Given the description of an element on the screen output the (x, y) to click on. 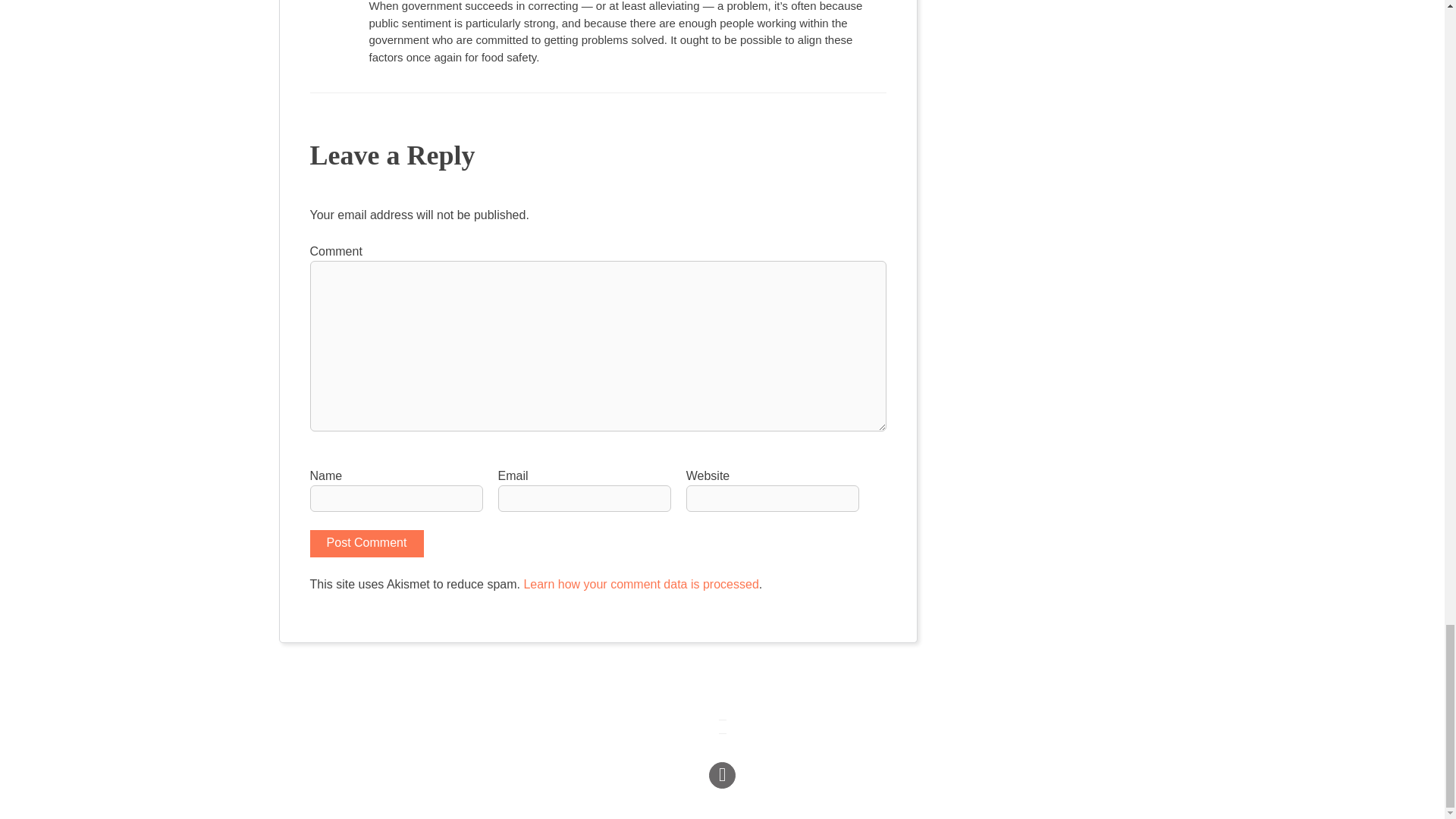
Learn how your comment data is processed (640, 584)
Post Comment (365, 543)
Post Comment (365, 543)
